Given the description of an element on the screen output the (x, y) to click on. 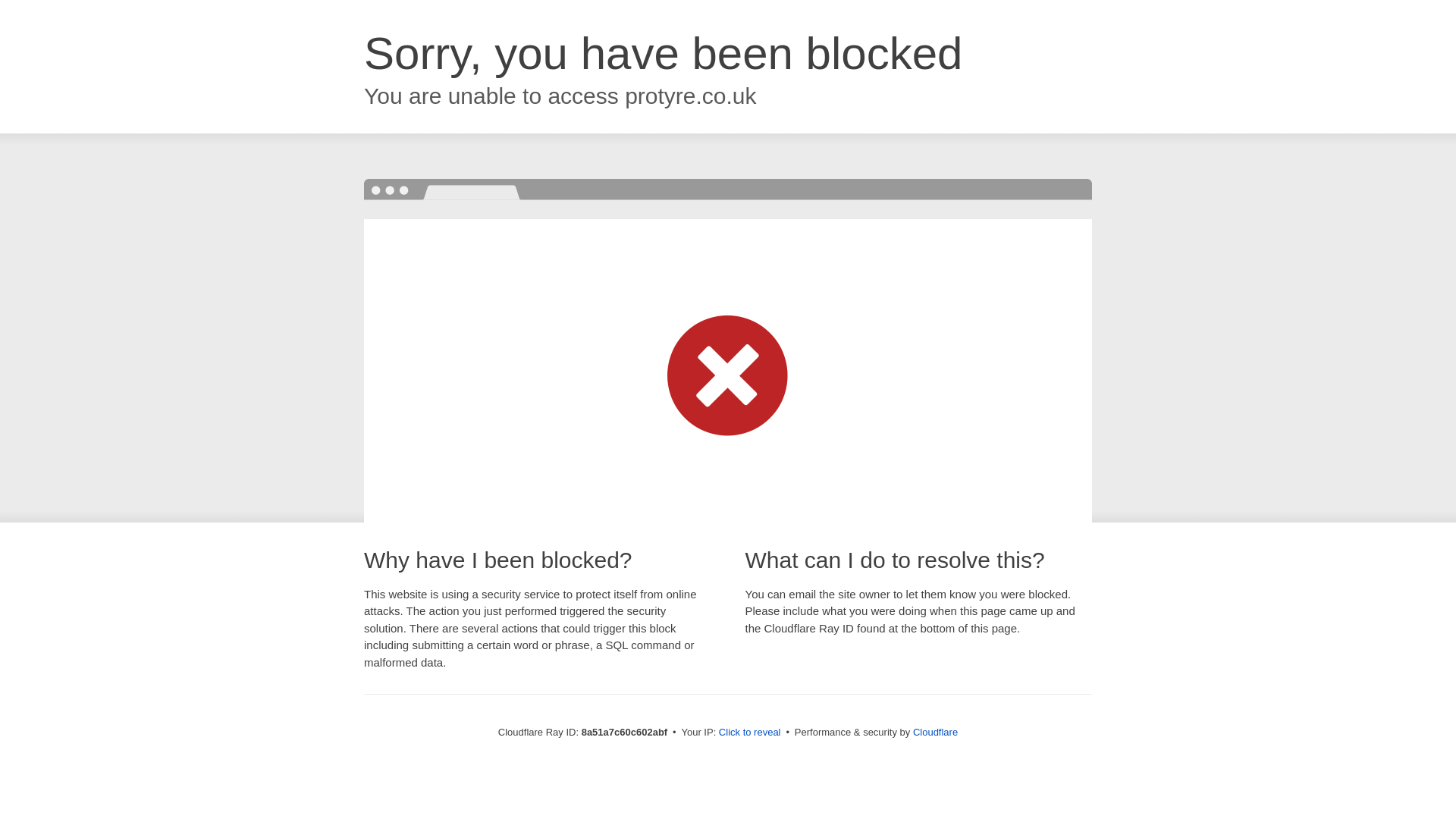
Click to reveal (749, 732)
Cloudflare (935, 731)
